Given the description of an element on the screen output the (x, y) to click on. 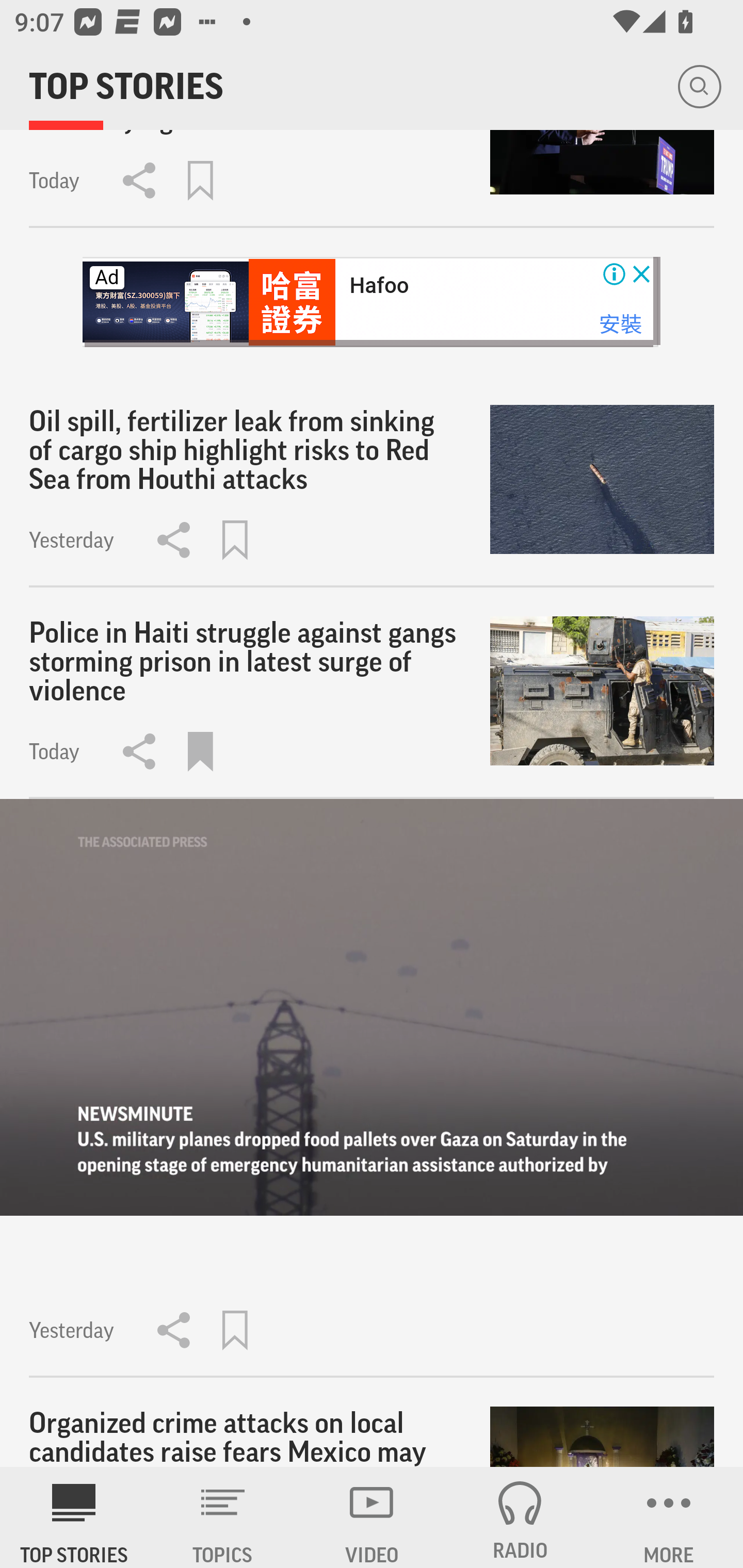
Hafoo (378, 285)
安裝 (620, 323)
toggle controls Yesterday (371, 1088)
toggle controls (371, 1007)
AP News TOP STORIES (74, 1517)
TOPICS (222, 1517)
VIDEO (371, 1517)
RADIO (519, 1517)
MORE (668, 1517)
